Given the description of an element on the screen output the (x, y) to click on. 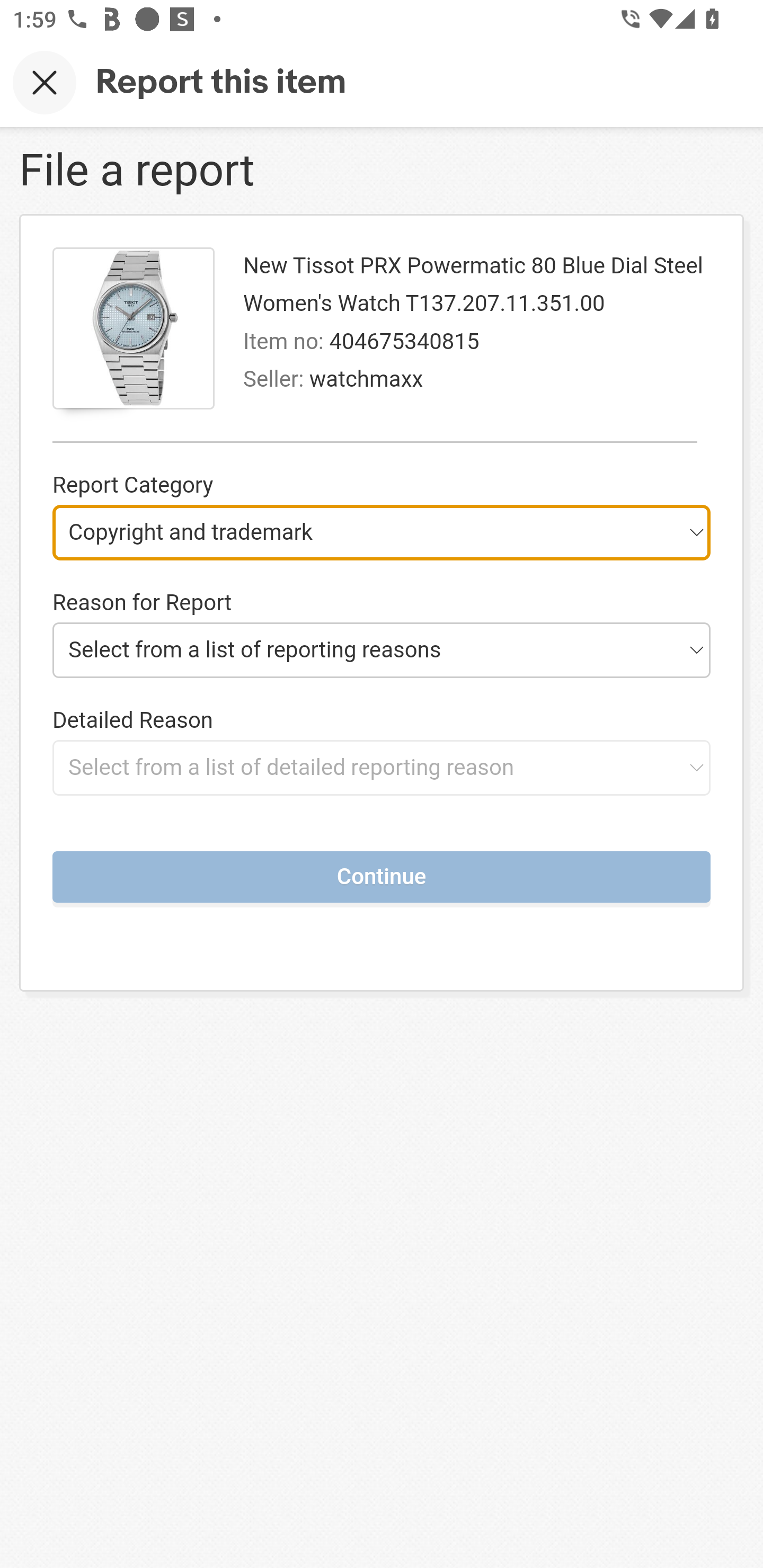
Close (44, 82)
Copyright and trademark (381, 532)
Select from a list of reporting reasons (381, 649)
Select from a list of detailed reporting reason (381, 767)
Continue (381, 876)
